Given the description of an element on the screen output the (x, y) to click on. 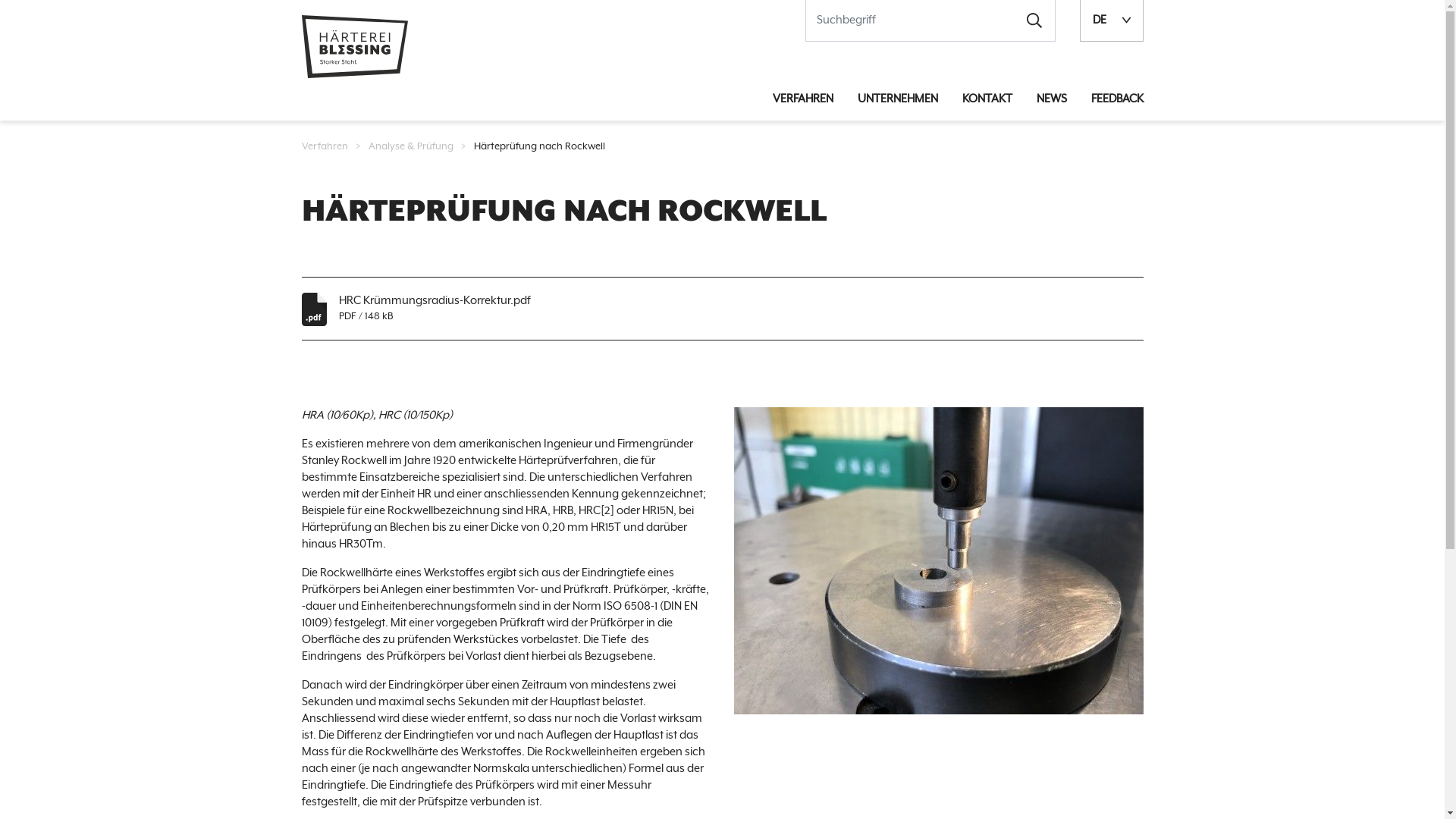
Suche starten Element type: text (1033, 20)
Verfahren Element type: text (324, 146)
KONTAKT Element type: text (986, 99)
NEWS Element type: text (1050, 99)
VERFAHREN Element type: text (801, 99)
UNTERNEHMEN Element type: text (896, 99)
FEEDBACK Element type: text (1116, 99)
